Given the description of an element on the screen output the (x, y) to click on. 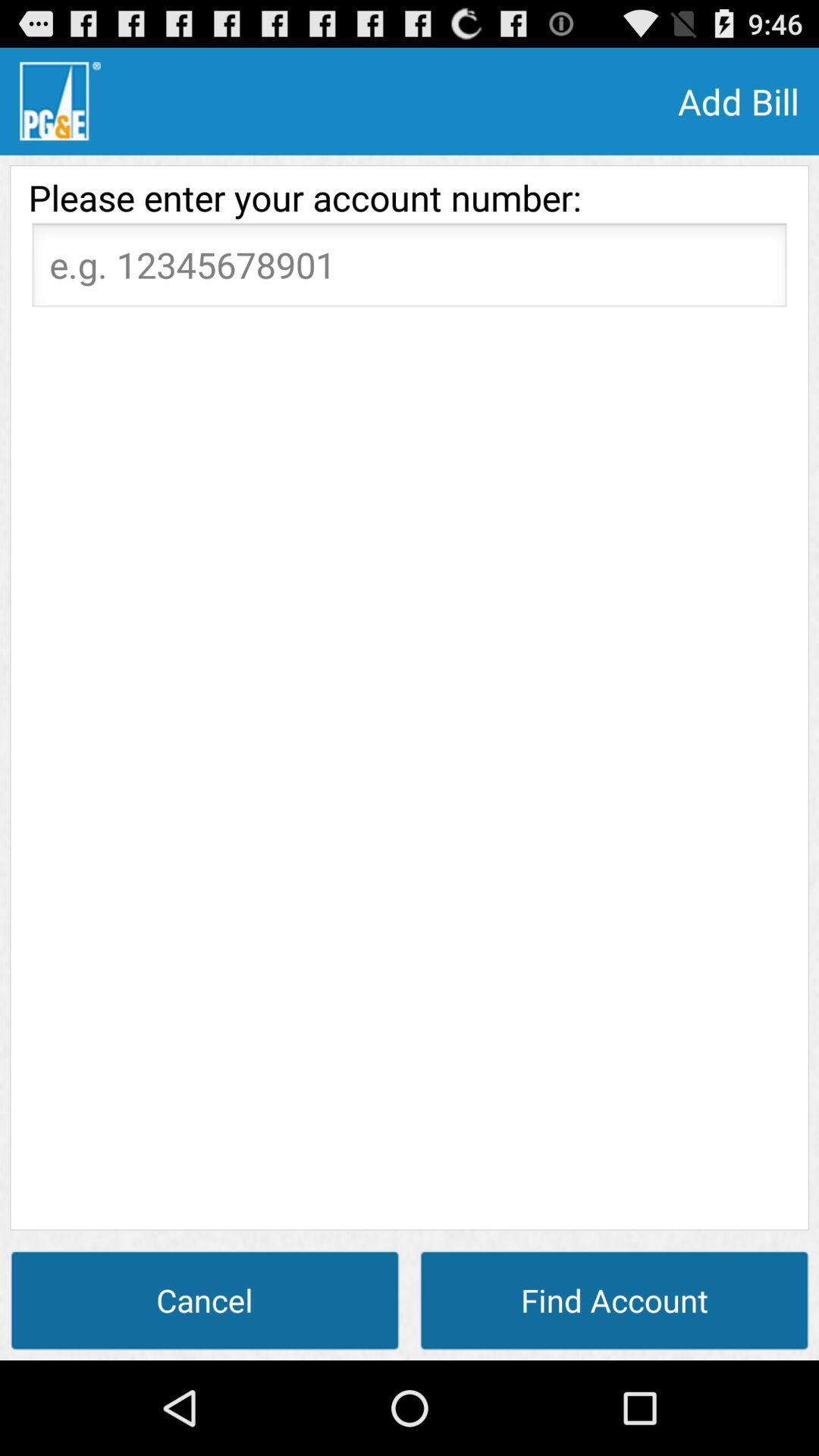
select the button next to cancel button (613, 1300)
